Given the description of an element on the screen output the (x, y) to click on. 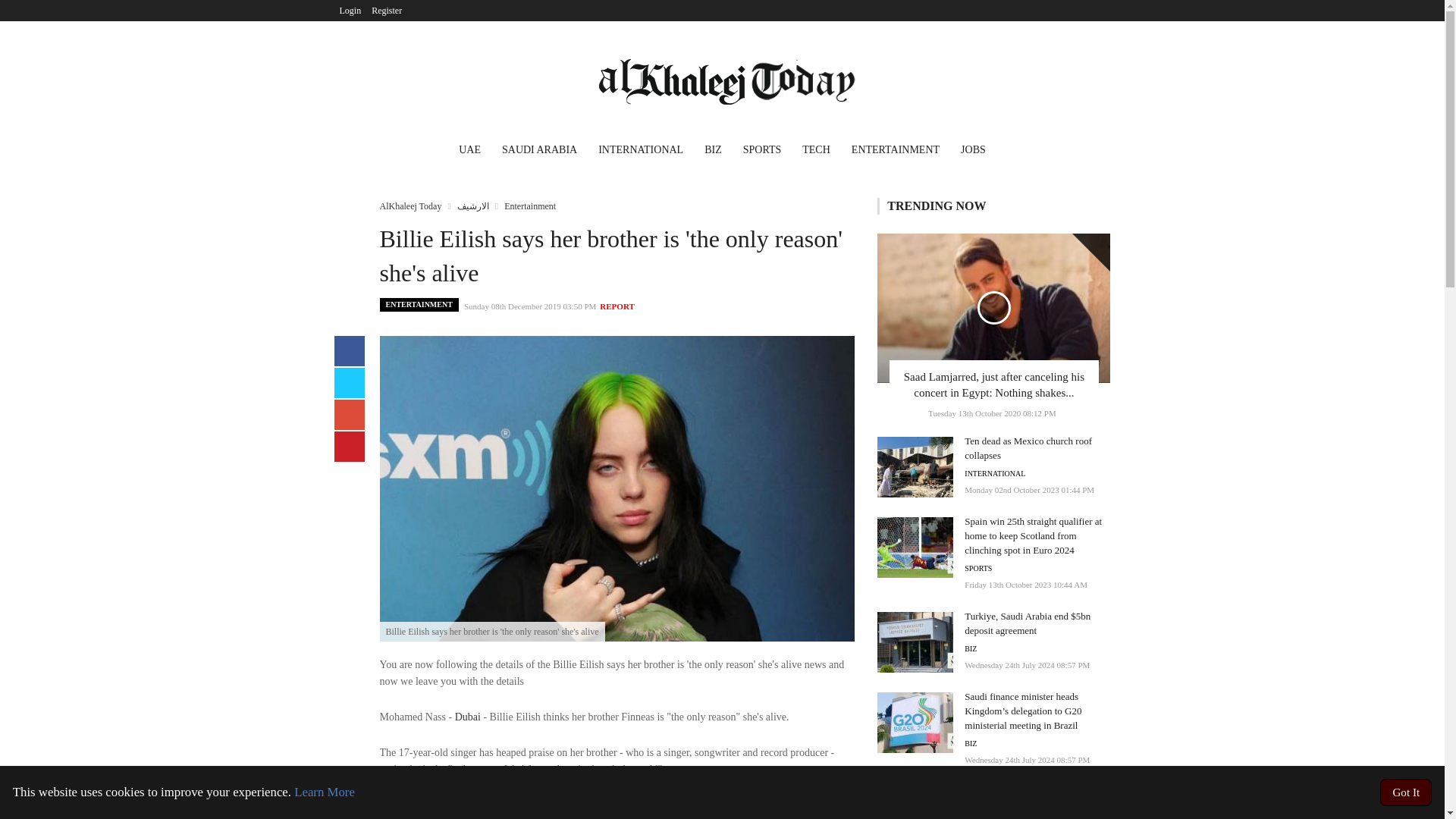
REPORT (616, 306)
INTERNATIONAL (641, 151)
SAUDI ARABIA (540, 151)
Got It (1405, 791)
JOBS (972, 151)
Learn More (324, 791)
Entertainment (529, 205)
ENTERTAINMENT (418, 305)
Dubai (467, 716)
ENTERTAINMENT (895, 151)
Login (349, 10)
SPORTS (762, 151)
AlKhaleej Today (409, 205)
Register (386, 10)
BIZ (713, 151)
